Given the description of an element on the screen output the (x, y) to click on. 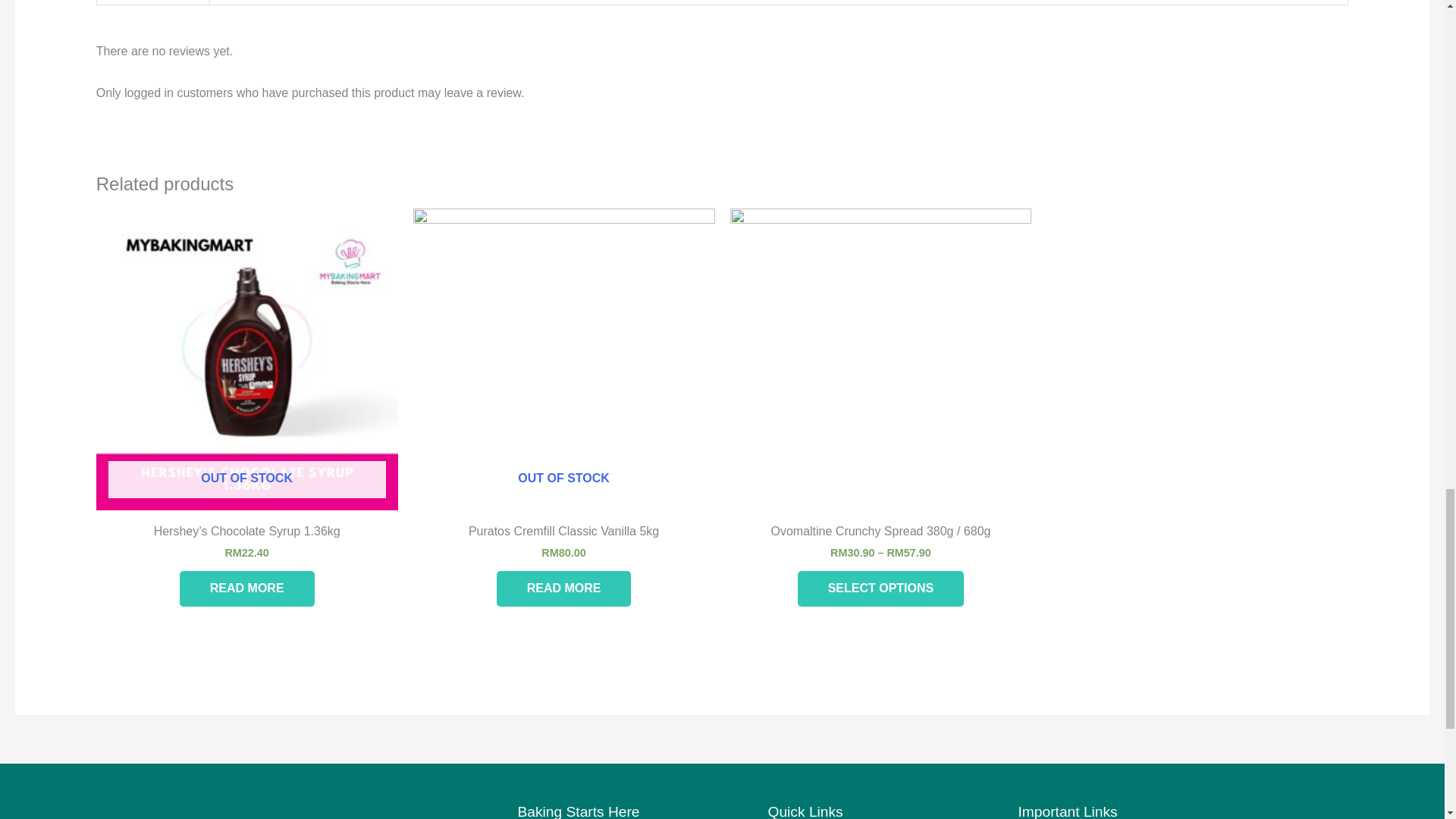
READ MORE (563, 588)
OUT OF STOCK (563, 359)
OUT OF STOCK (246, 359)
SELECT OPTIONS (880, 588)
Puratos Cremfill Classic Vanilla 5kg (563, 535)
READ MORE (246, 588)
